Given the description of an element on the screen output the (x, y) to click on. 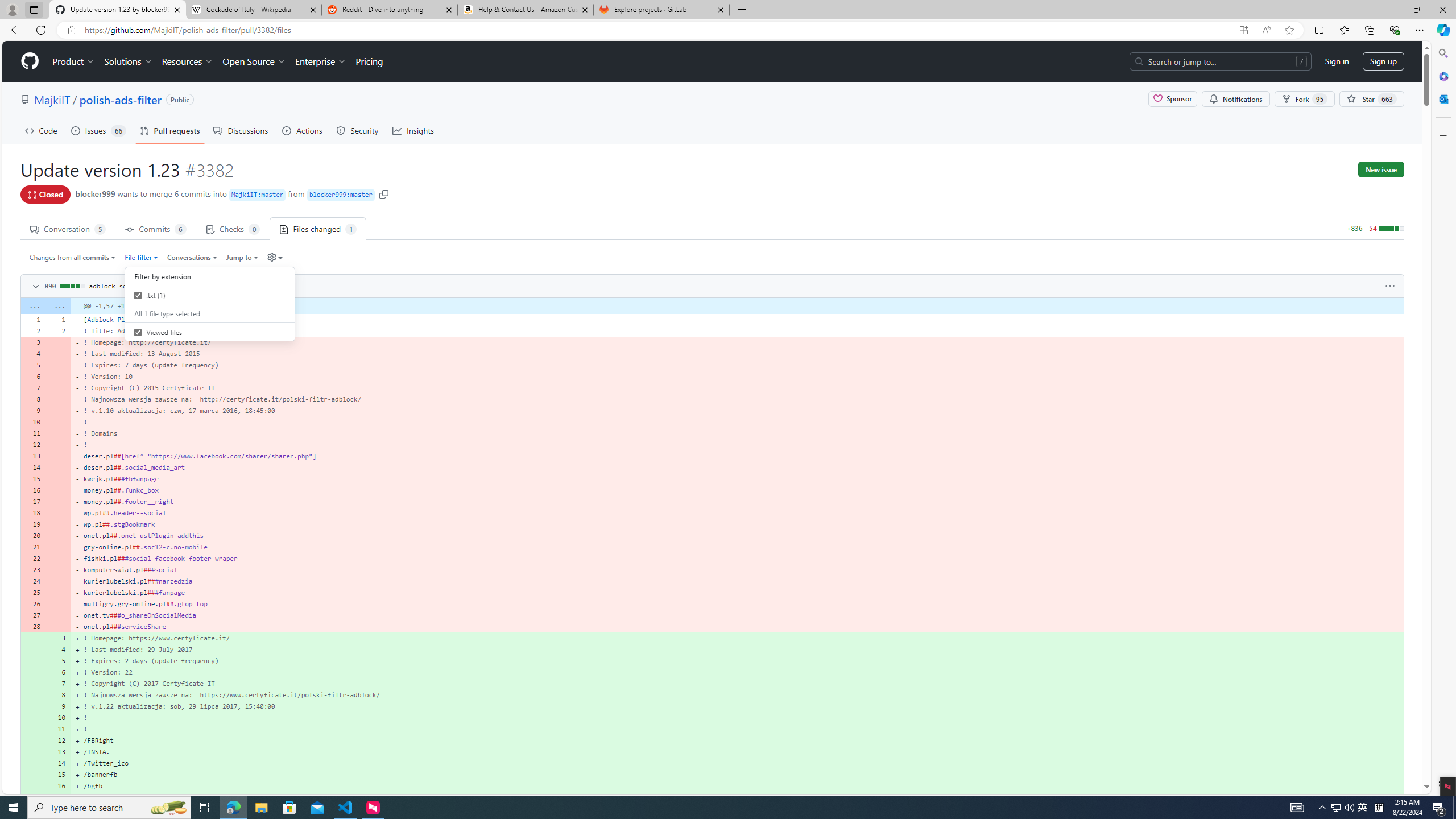
27 (33, 614)
5 (58, 660)
+ /btnartwrzuta  (737, 797)
+ ! Expires: 2 days (update frequency)  (737, 660)
+ ! (737, 728)
+ ! Last modified: 29 July 2017 (737, 649)
Product (74, 60)
- money.pl##.footer__right (737, 501)
- ! (737, 444)
